Given the description of an element on the screen output the (x, y) to click on. 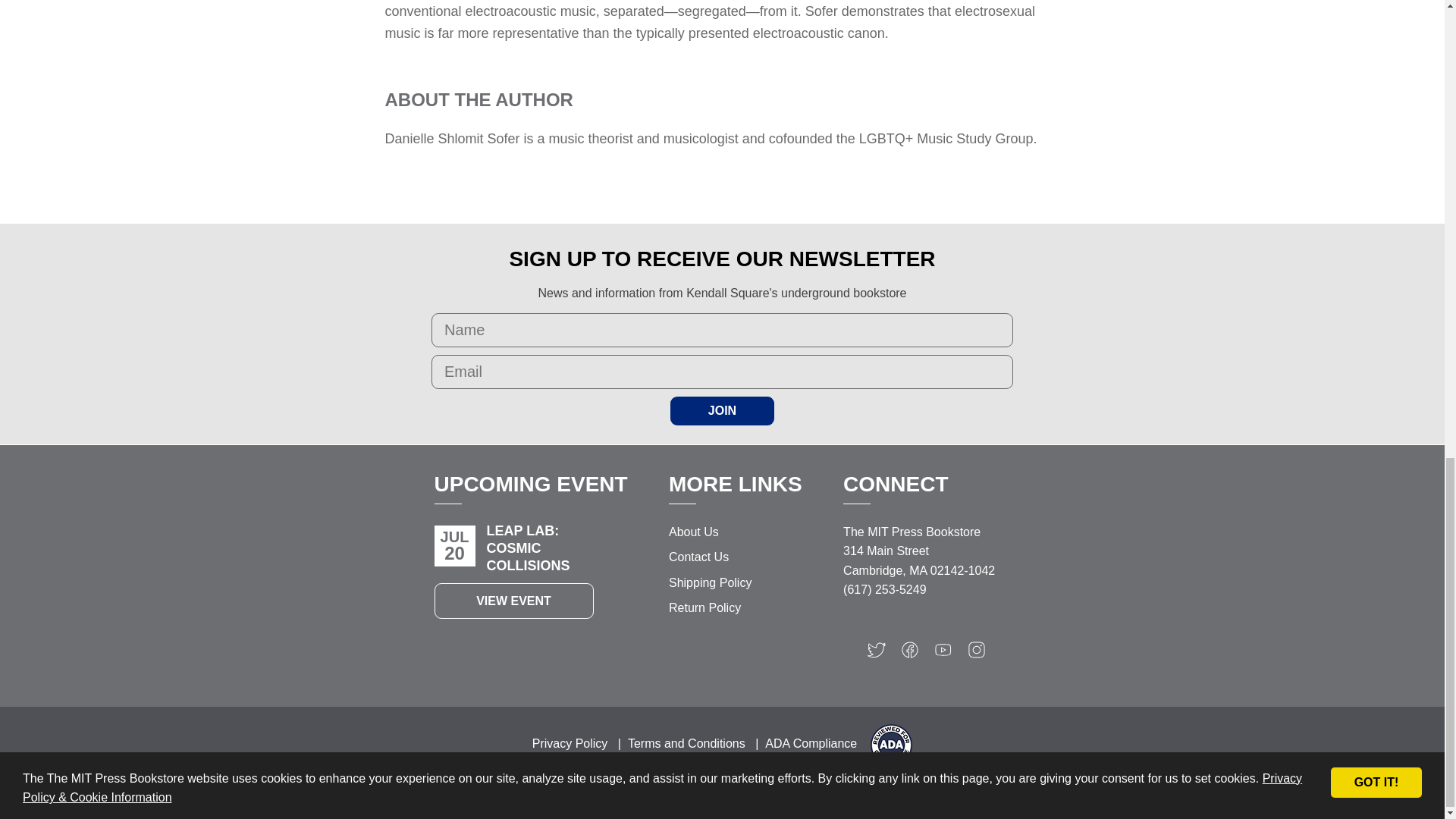
VIEW EVENT (512, 601)
About Us (693, 531)
Join (721, 410)
Contact Us (698, 556)
Shipping Policy (709, 582)
Join (721, 410)
